Given the description of an element on the screen output the (x, y) to click on. 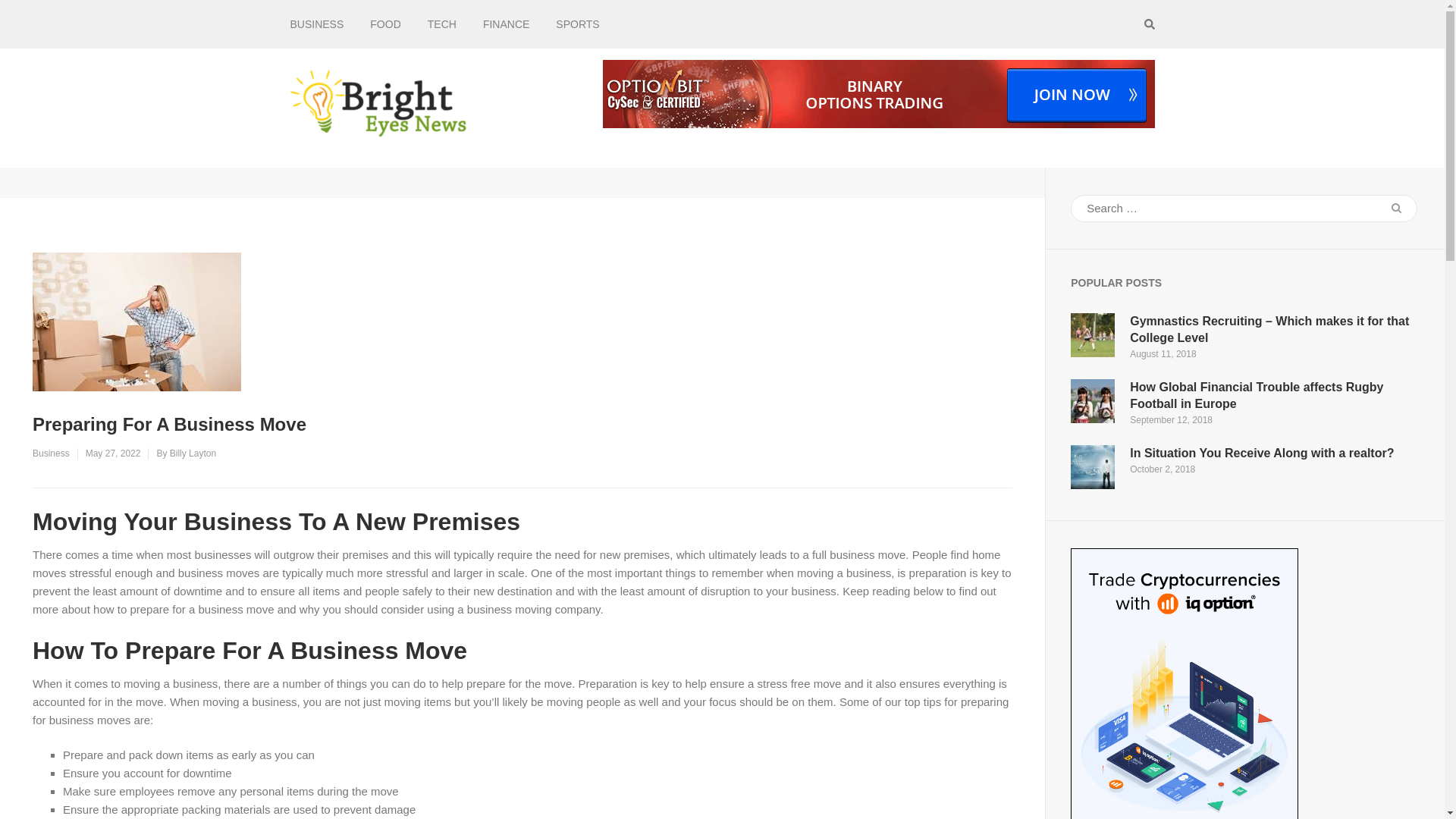
BUSINESS (316, 24)
Search (1395, 207)
August 11, 2018 (1162, 353)
Business (50, 452)
Billy Layton (192, 452)
In Situation You Receive Along with a realtor? (1261, 452)
September 12, 2018 (1170, 419)
FINANCE (506, 24)
Search (1395, 207)
May 27, 2022 (113, 452)
